Given the description of an element on the screen output the (x, y) to click on. 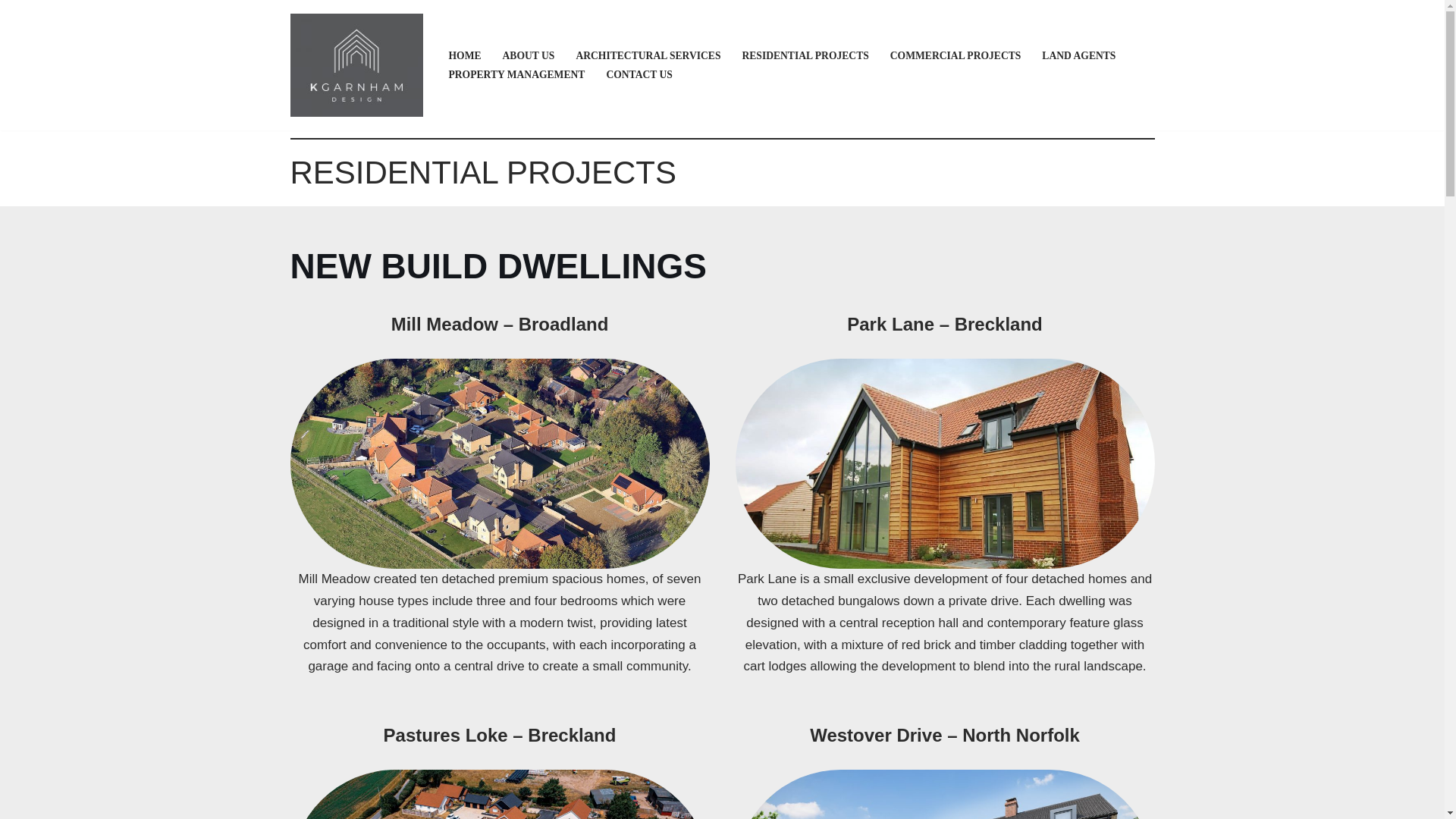
ABOUT US (528, 55)
PROPERTY MANAGEMENT (516, 74)
CONTACT US (638, 74)
Skip to content (11, 31)
RESIDENTIAL PROJECTS (804, 55)
COMMERCIAL PROJECTS (955, 55)
LAND AGENTS (1078, 55)
ARCHITECTURAL SERVICES (647, 55)
HOME (464, 55)
